Given the description of an element on the screen output the (x, y) to click on. 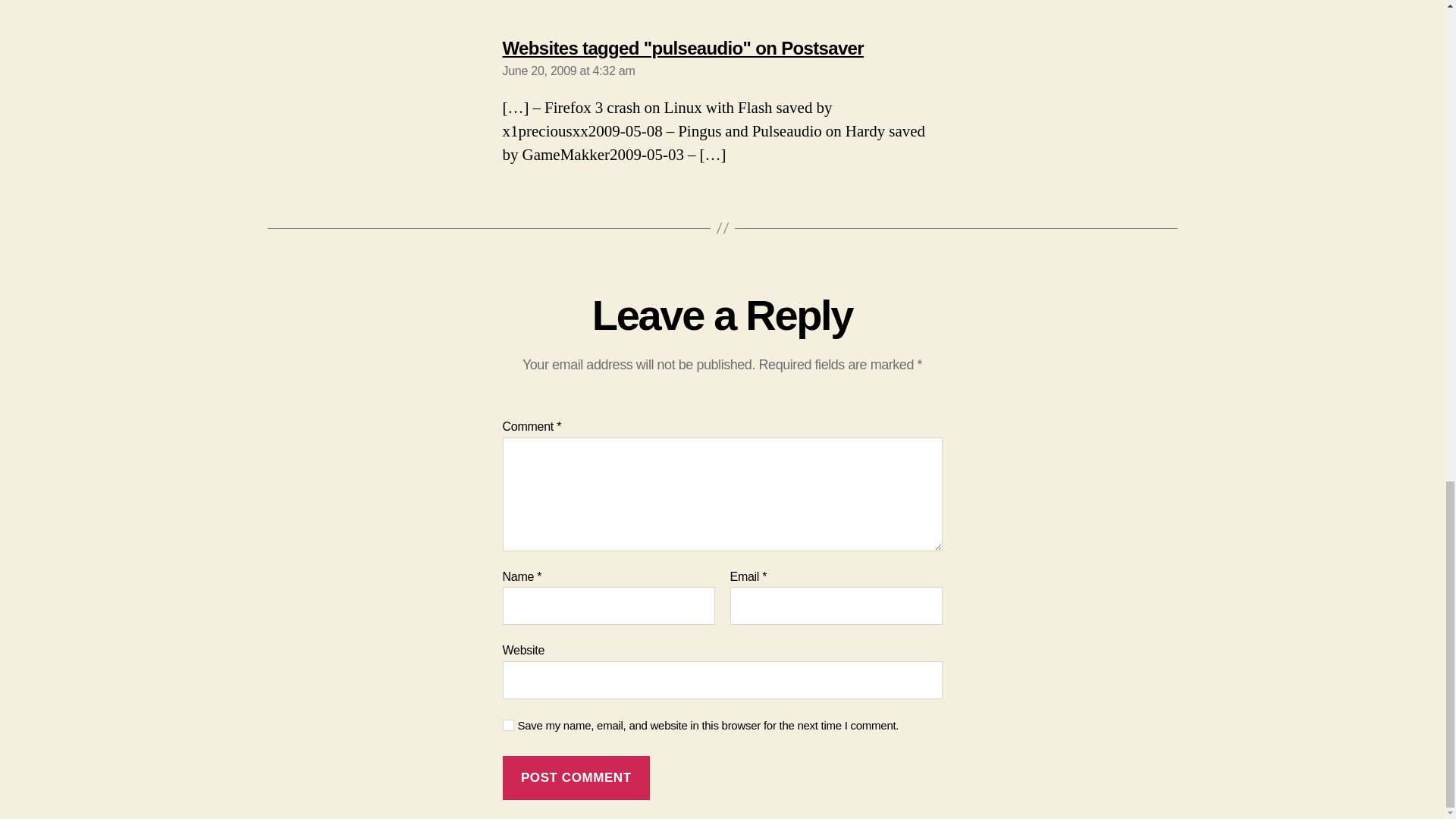
Post Comment (575, 777)
yes (507, 725)
